Given the description of an element on the screen output the (x, y) to click on. 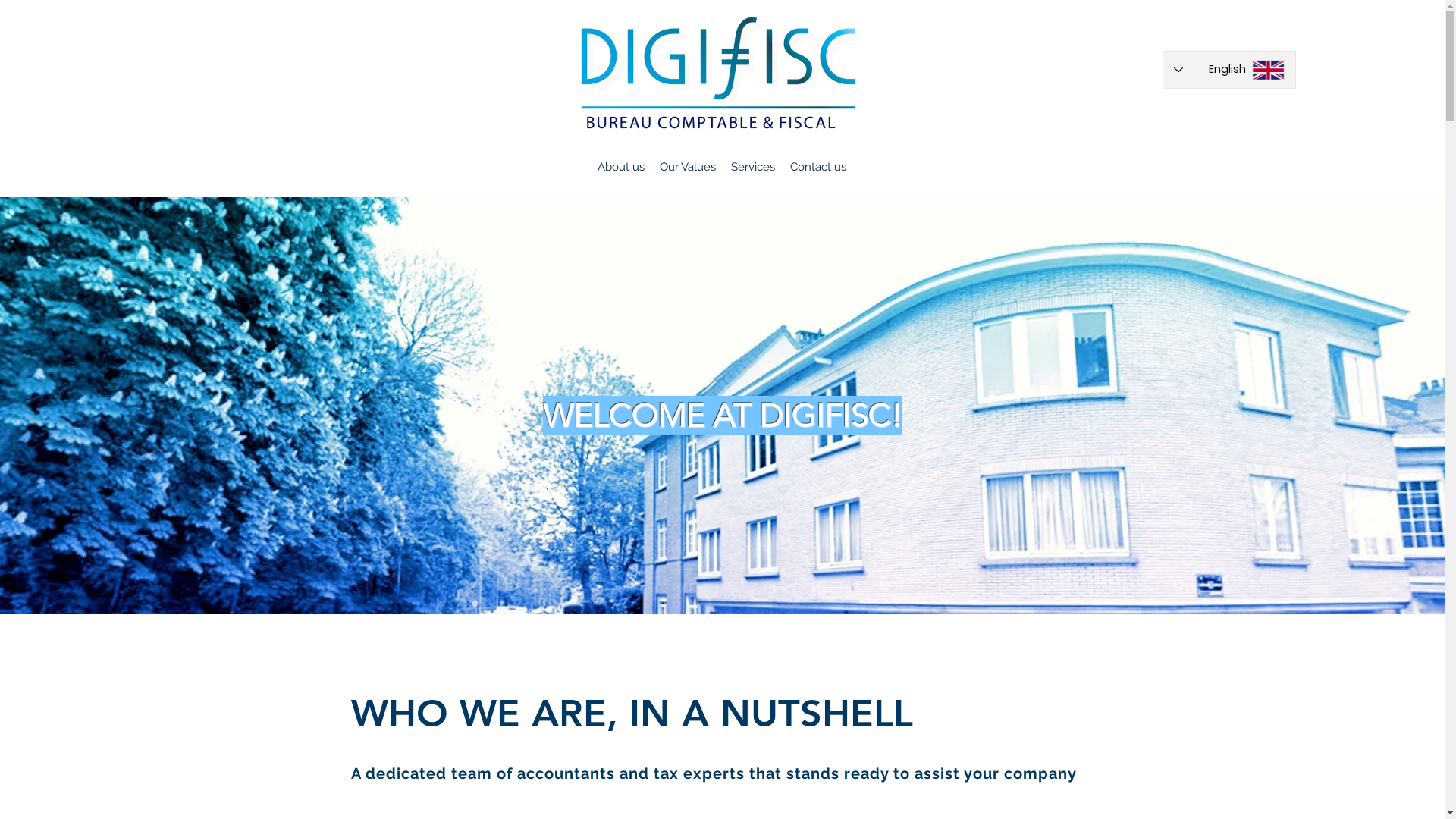
Services Element type: text (752, 166)
Contact us Element type: text (817, 166)
About us Element type: text (620, 166)
Our Values Element type: text (687, 166)
